Given the description of an element on the screen output the (x, y) to click on. 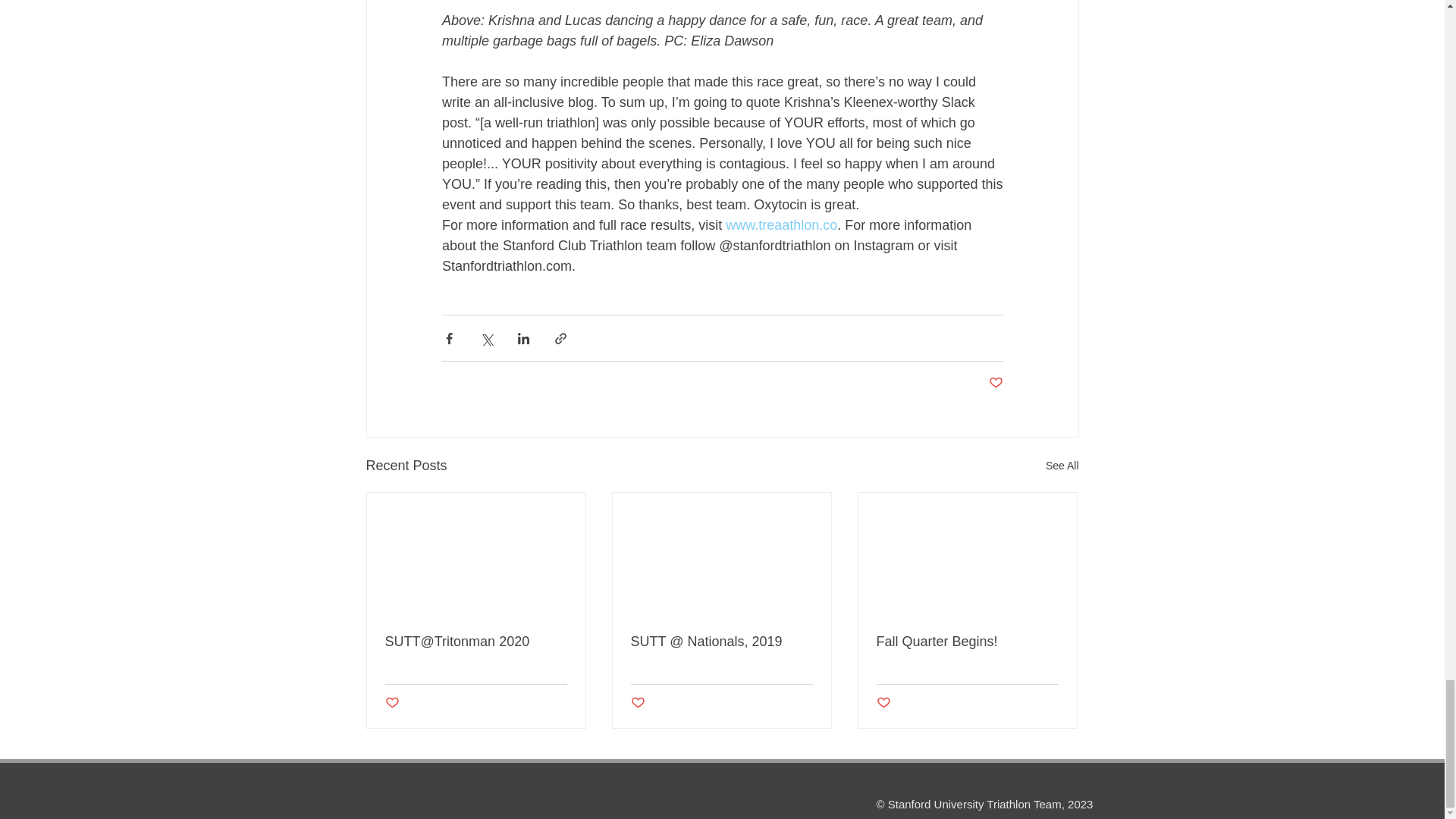
Post not marked as liked (637, 703)
Post not marked as liked (391, 703)
www.treaathlon.co (781, 224)
See All (1061, 465)
Post not marked as liked (995, 383)
